Given the description of an element on the screen output the (x, y) to click on. 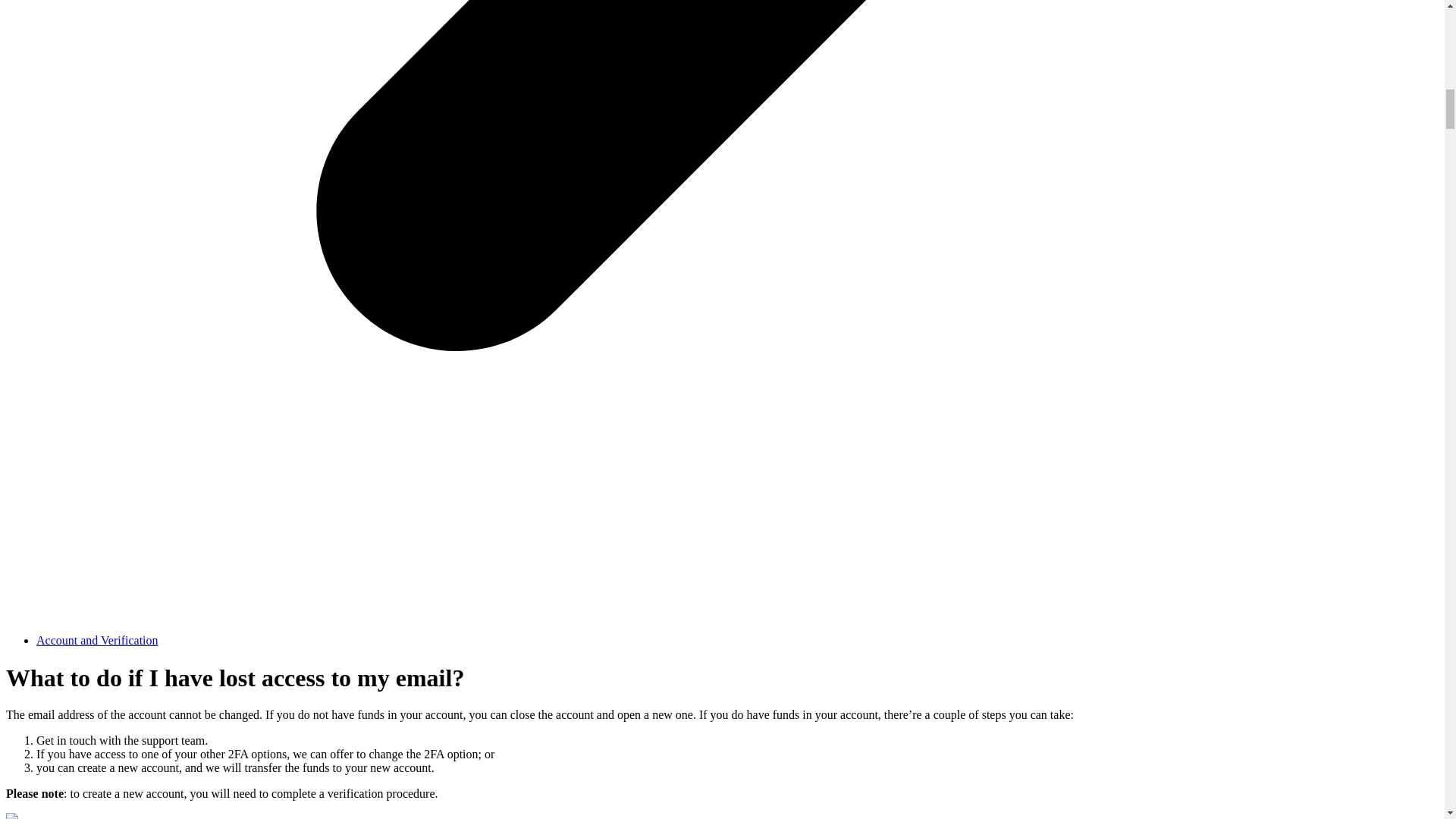
Account and Verification (97, 640)
